Given the description of an element on the screen output the (x, y) to click on. 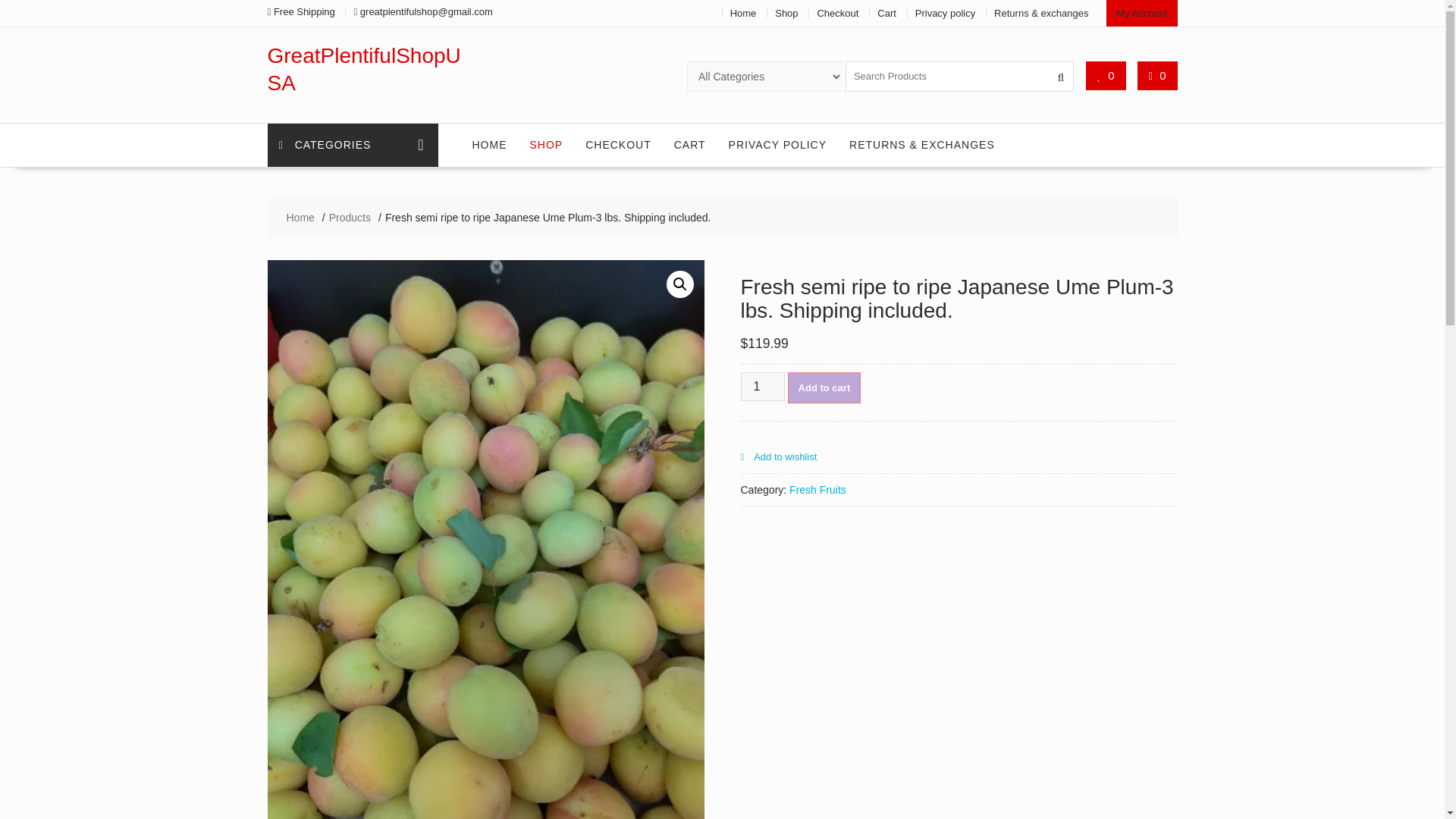
0 (1106, 74)
Home (300, 217)
CATEGORIES (352, 145)
CHECKOUT (617, 144)
PRIVACY POLICY (777, 144)
Privacy policy (945, 12)
Checkout (837, 12)
0 (1157, 74)
Home (743, 12)
Cart (886, 12)
